Given the description of an element on the screen output the (x, y) to click on. 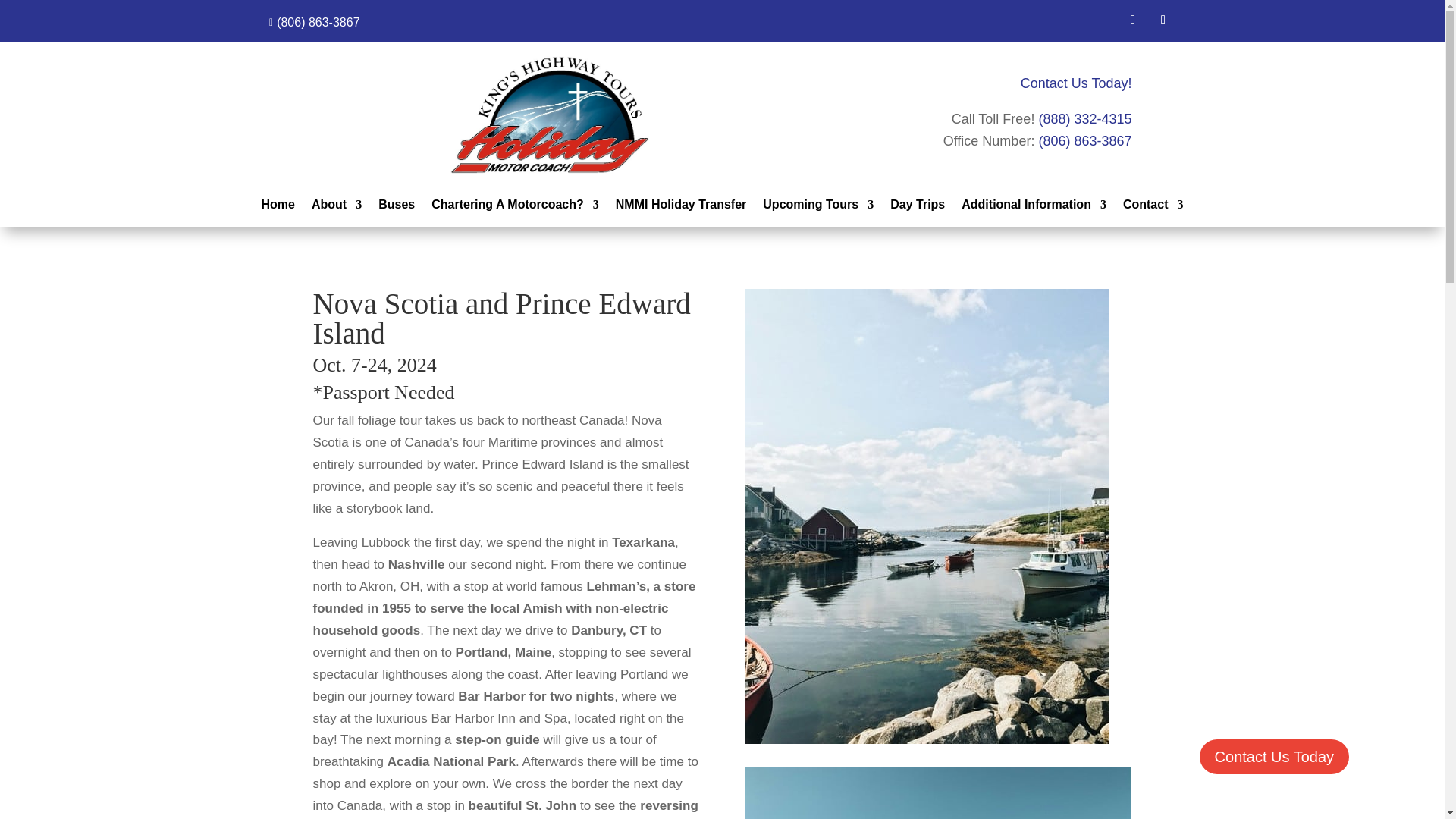
New Logo (549, 114)
Home (278, 207)
Upcoming Tours (817, 207)
Contact (1152, 207)
About (336, 207)
Buses (396, 207)
Contact Us Today! (1076, 83)
Follow on Google (1162, 19)
Additional Information (1033, 207)
Follow on Facebook (1132, 19)
NMMI Holiday Transfer (680, 207)
Day Trips (916, 207)
Chartering A Motorcoach? (514, 207)
